Given the description of an element on the screen output the (x, y) to click on. 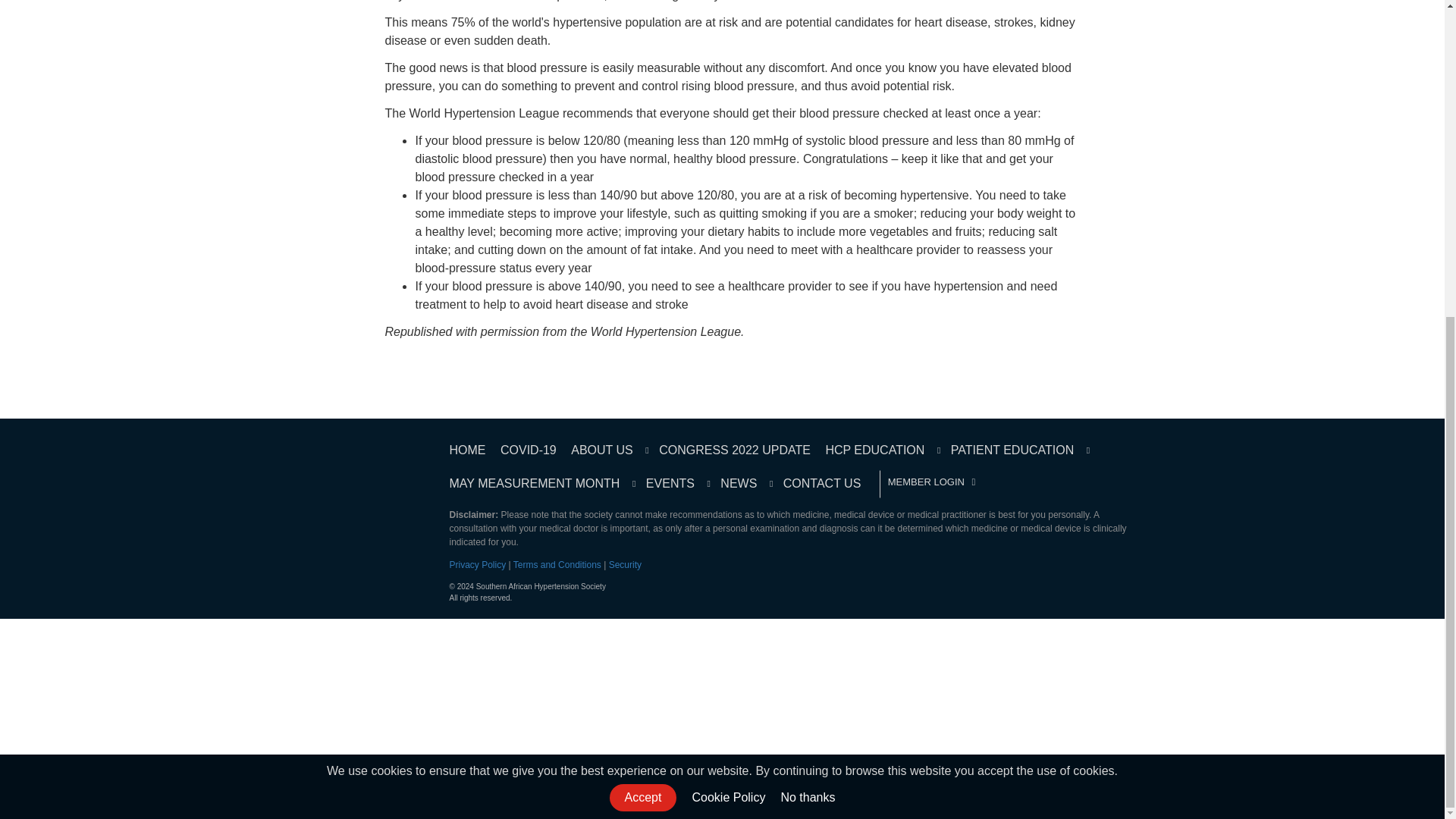
Go to Google search engine. (807, 286)
